Given the description of an element on the screen output the (x, y) to click on. 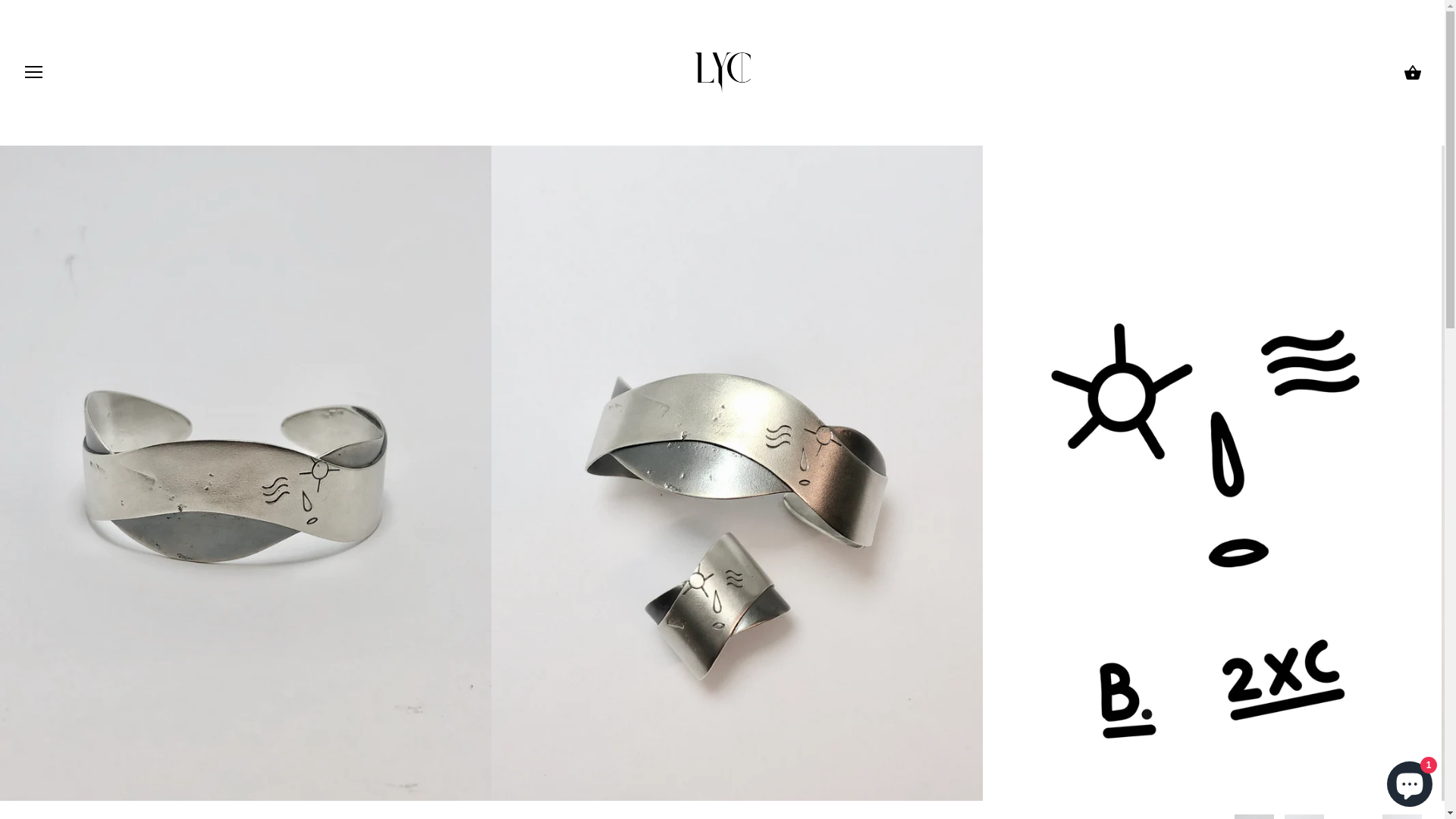
Chat de la boutique en ligne Shopify Element type: hover (1409, 780)
Cart Element type: text (1412, 72)
